Given the description of an element on the screen output the (x, y) to click on. 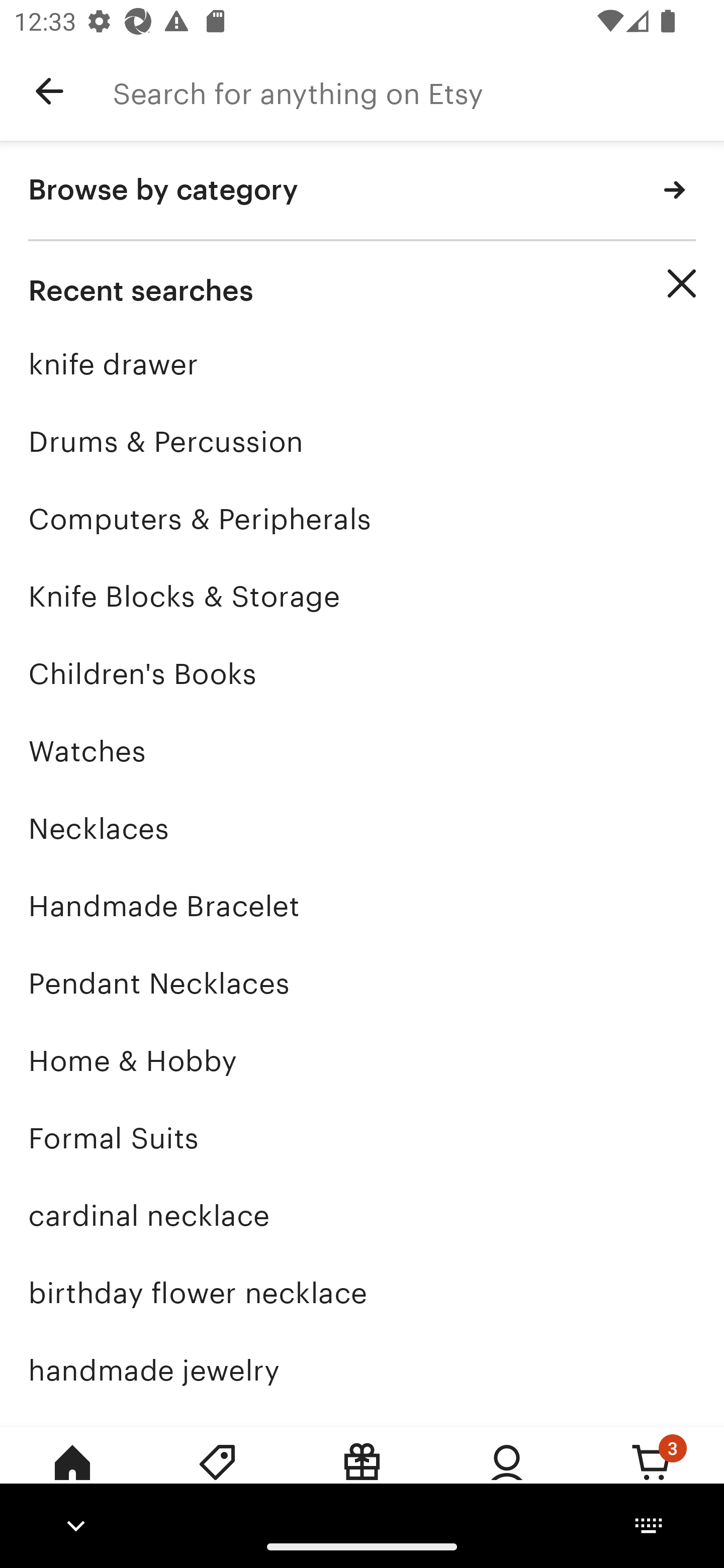
Navigate up (49, 91)
Search for anything on Etsy (418, 91)
Browse by category (362, 191)
Clear (681, 283)
knife drawer (362, 364)
Drums & Percussion (362, 440)
Computers & Peripherals (362, 518)
Knife Blocks & Storage (362, 596)
Children's Books (362, 673)
Watches (362, 750)
Necklaces (362, 828)
Handmade Bracelet (362, 906)
Pendant Necklaces (362, 983)
Home & Hobby (362, 1060)
Formal Suits (362, 1138)
cardinal necklace (362, 1215)
birthday flower necklace (362, 1292)
handmade jewelry (362, 1370)
Deals (216, 1475)
Gift Mode (361, 1475)
You (506, 1475)
Cart, 3 new notifications (651, 1475)
